Given the description of an element on the screen output the (x, y) to click on. 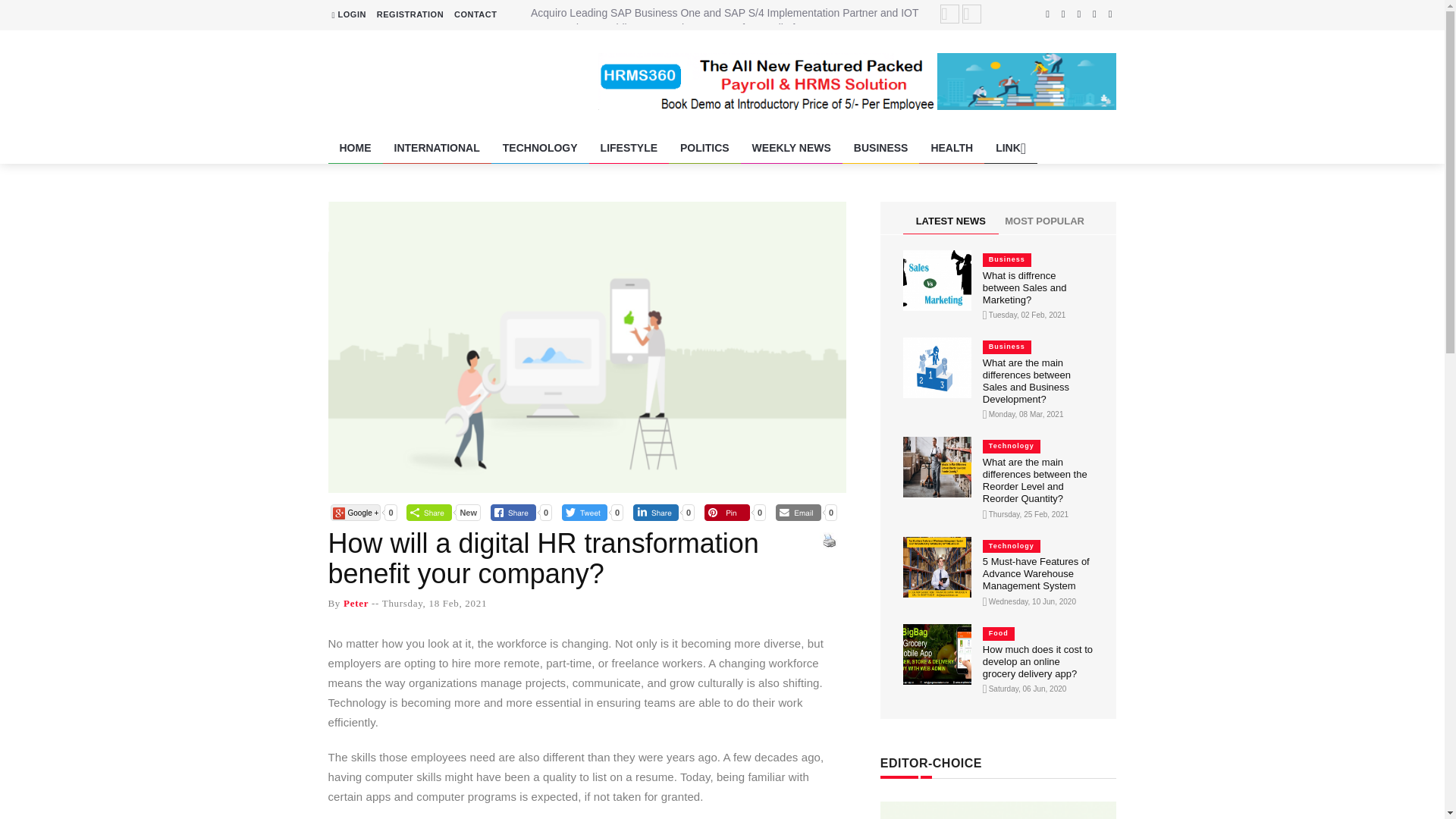
LOGIN (348, 14)
WEEKLY NEWS (792, 147)
REGISTRATION (409, 14)
LIFESTYLE (628, 147)
CONTACT (474, 14)
HOME (354, 147)
HEALTH (951, 147)
POLITICS (704, 147)
BUSINESS (881, 147)
Click to Print (828, 539)
INTERNATIONAL (435, 147)
LINK (1010, 147)
TECHNOLOGY (540, 147)
